Given the description of an element on the screen output the (x, y) to click on. 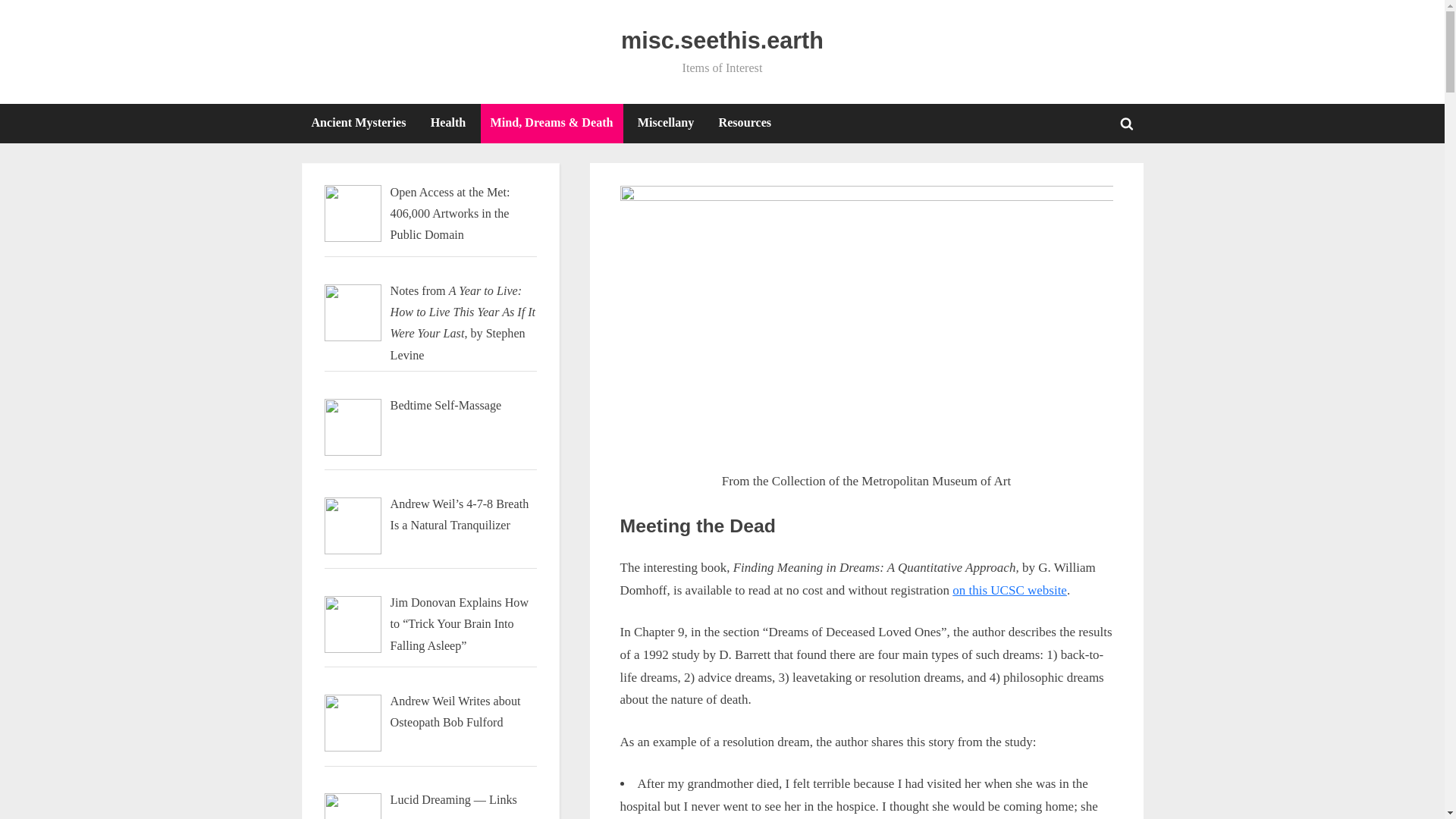
on this UCSC website (1009, 590)
Miscellany (665, 123)
Ancient Mysteries (671, 558)
misc.seethis.earth (358, 123)
Bedtime Self-Massage (671, 558)
